Given the description of an element on the screen output the (x, y) to click on. 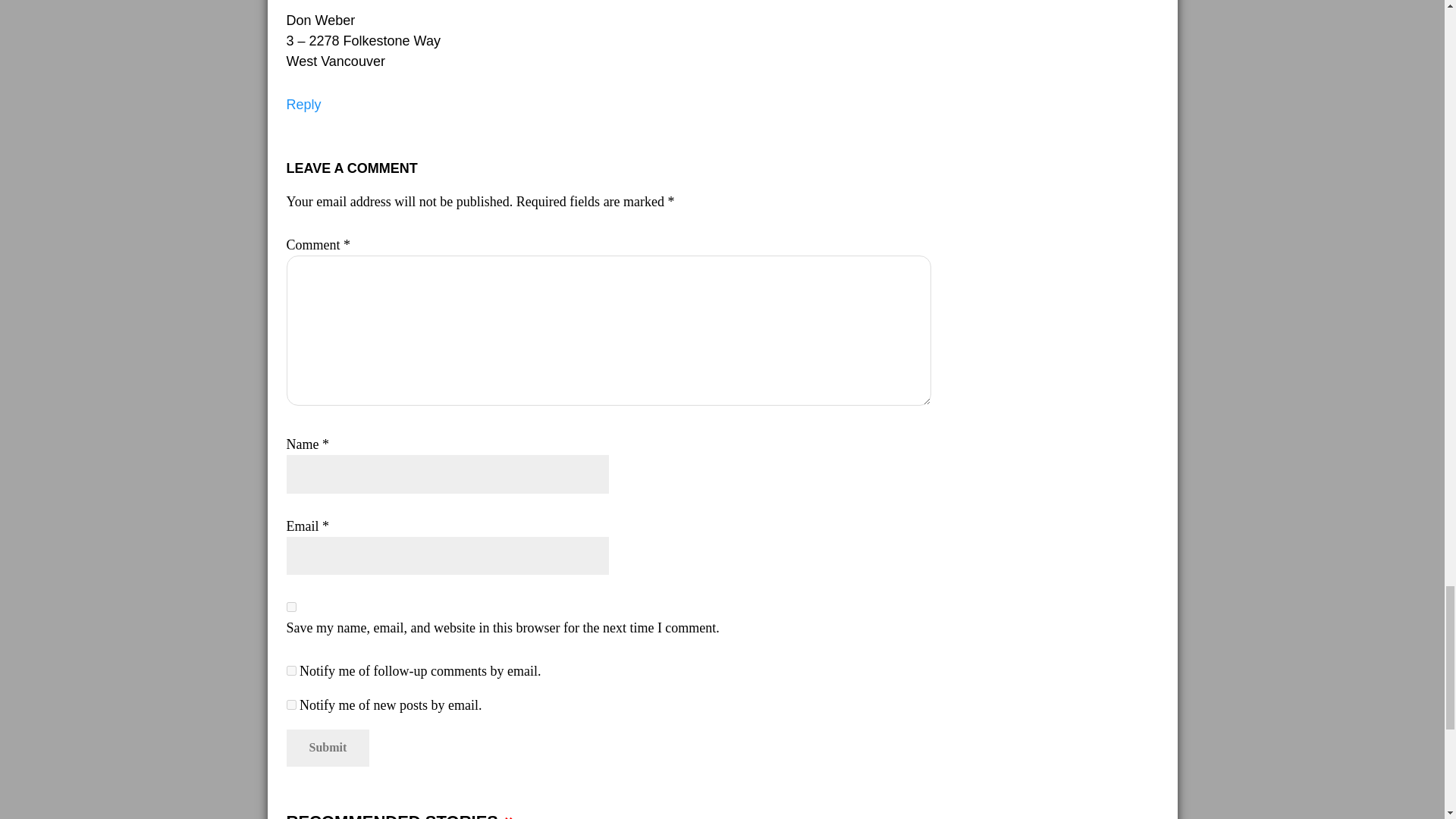
Submit (327, 747)
Submit (327, 747)
Reply (303, 104)
subscribe (291, 705)
subscribe (291, 670)
yes (291, 606)
